Given the description of an element on the screen output the (x, y) to click on. 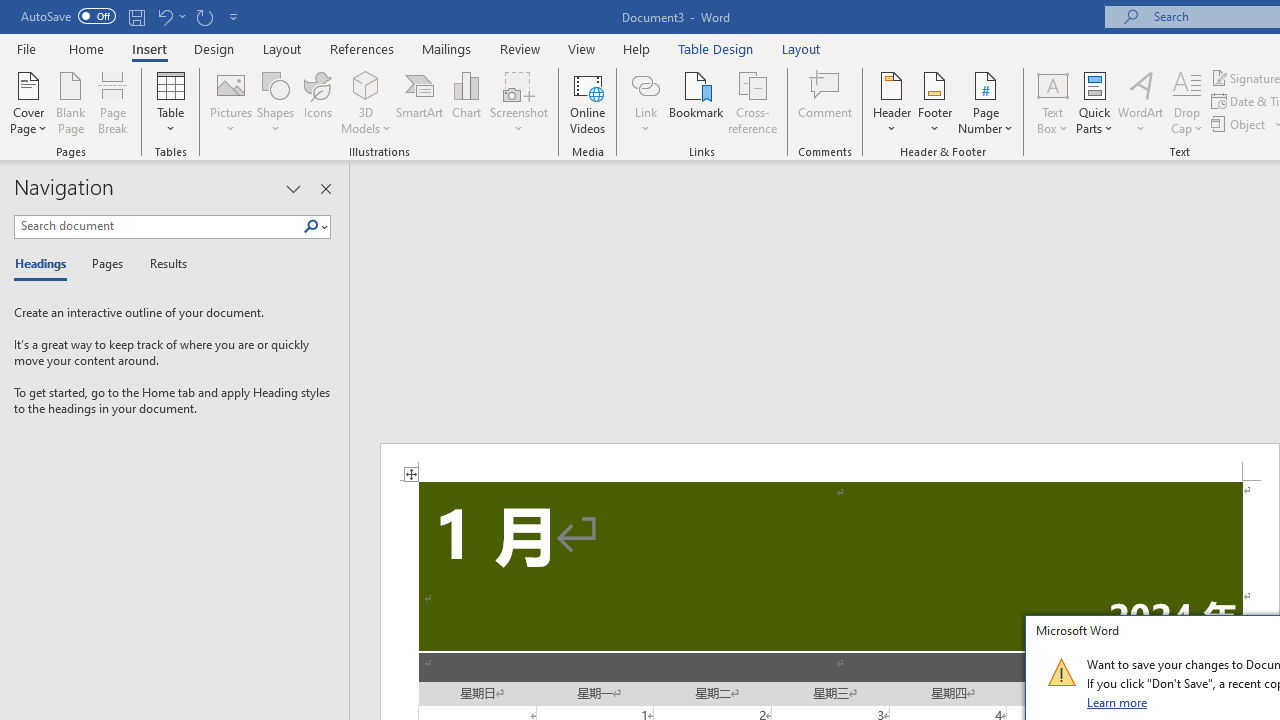
Page Number (986, 102)
Undo Increase Indent (170, 15)
Table (170, 102)
Repeat Doc Close (204, 15)
Class: NetUIImage (1061, 671)
Online Videos... (588, 102)
Save (136, 15)
Quick Parts (1094, 102)
Text Box (1052, 102)
Cross-reference... (752, 102)
More Options (645, 121)
View (582, 48)
Close pane (325, 188)
SmartArt... (419, 102)
Screenshot (518, 102)
